Given the description of an element on the screen output the (x, y) to click on. 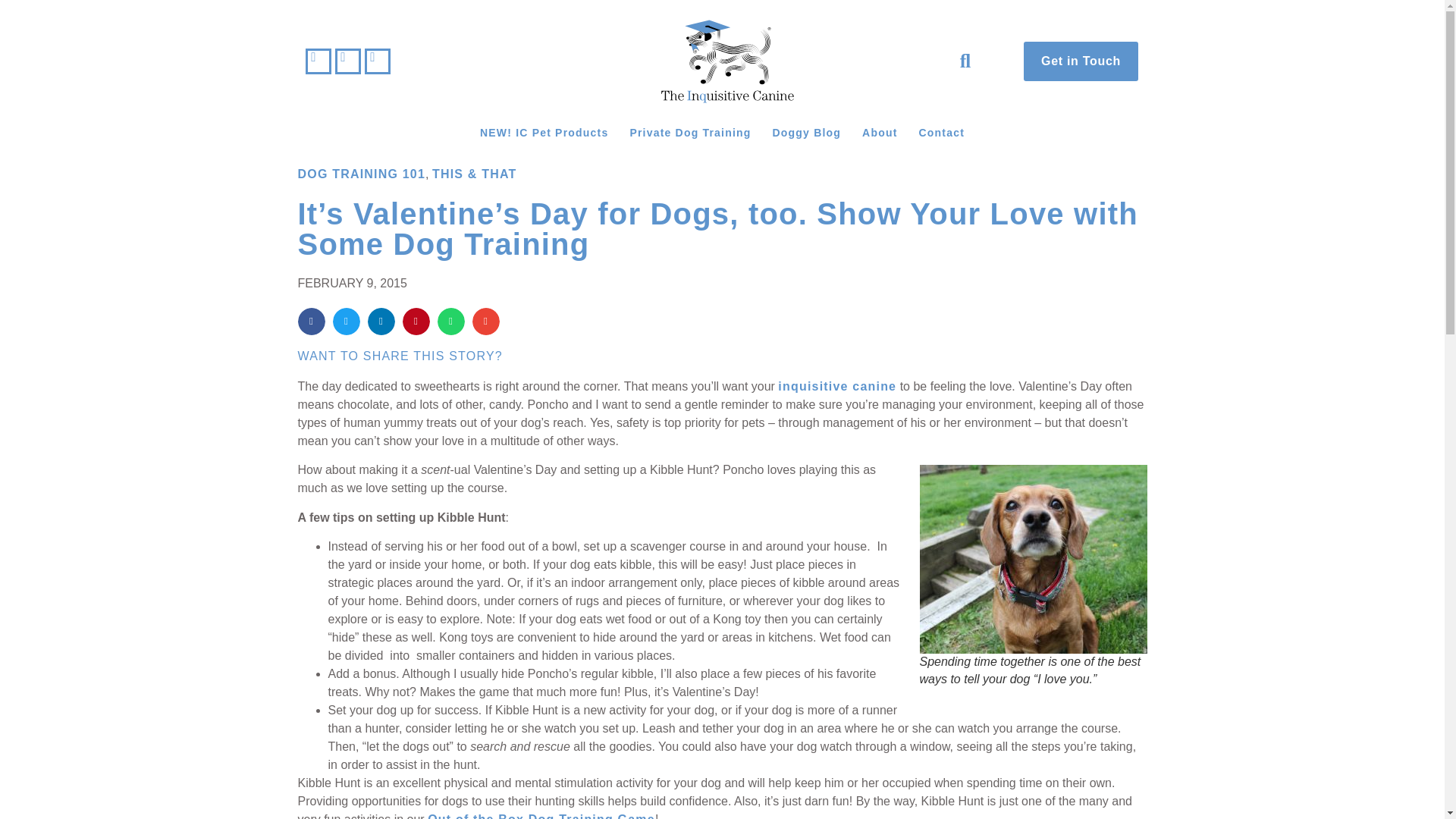
NEW! IC Pet Products (543, 132)
About (879, 132)
Get in Touch (1080, 61)
Doggy Blog (806, 132)
Private Dog Training (689, 132)
Contact (941, 132)
